Given the description of an element on the screen output the (x, y) to click on. 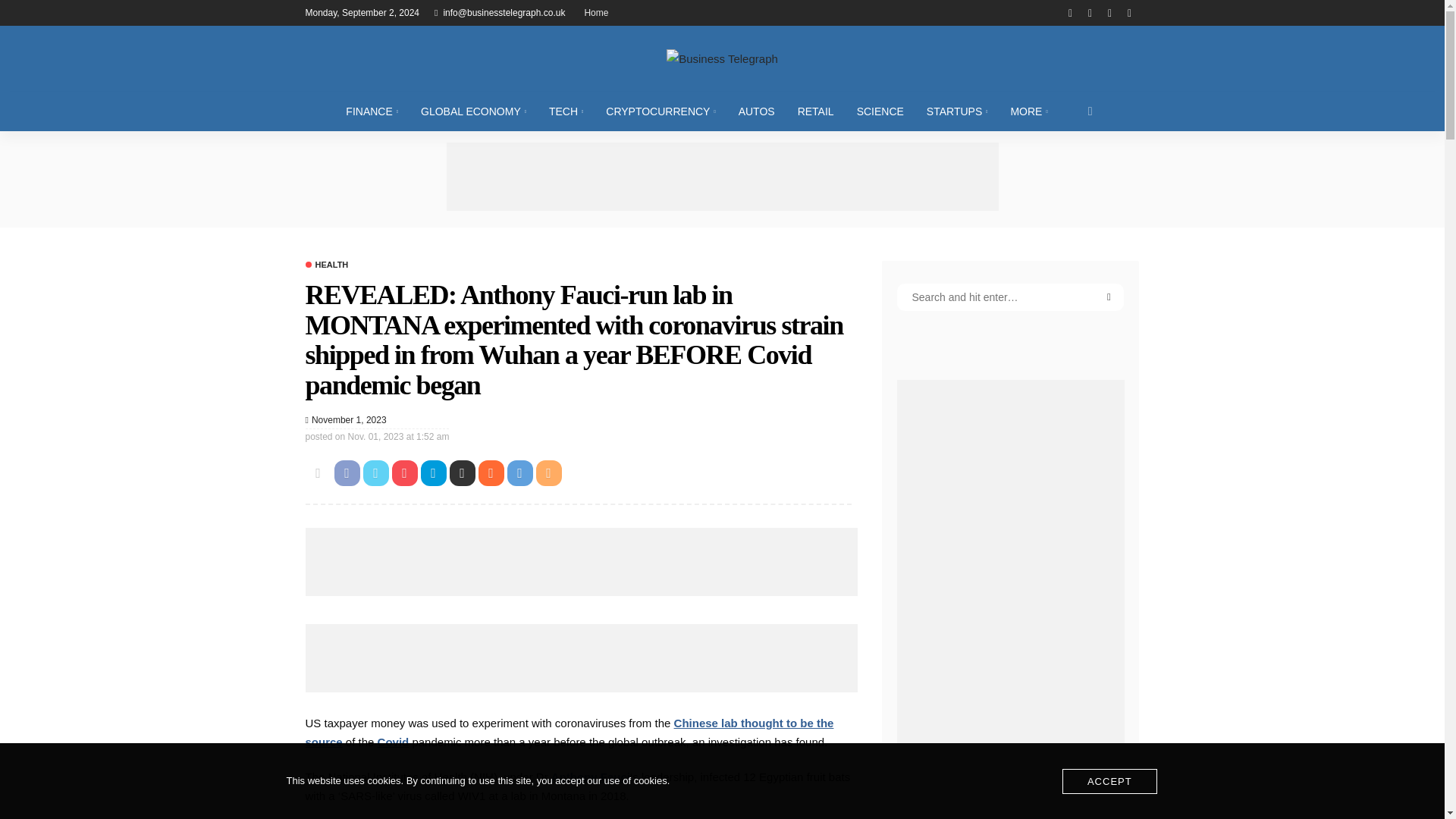
search (1089, 111)
Business Telegraph (721, 58)
FINANCE (371, 111)
Home (595, 12)
Health (325, 265)
